Given the description of an element on the screen output the (x, y) to click on. 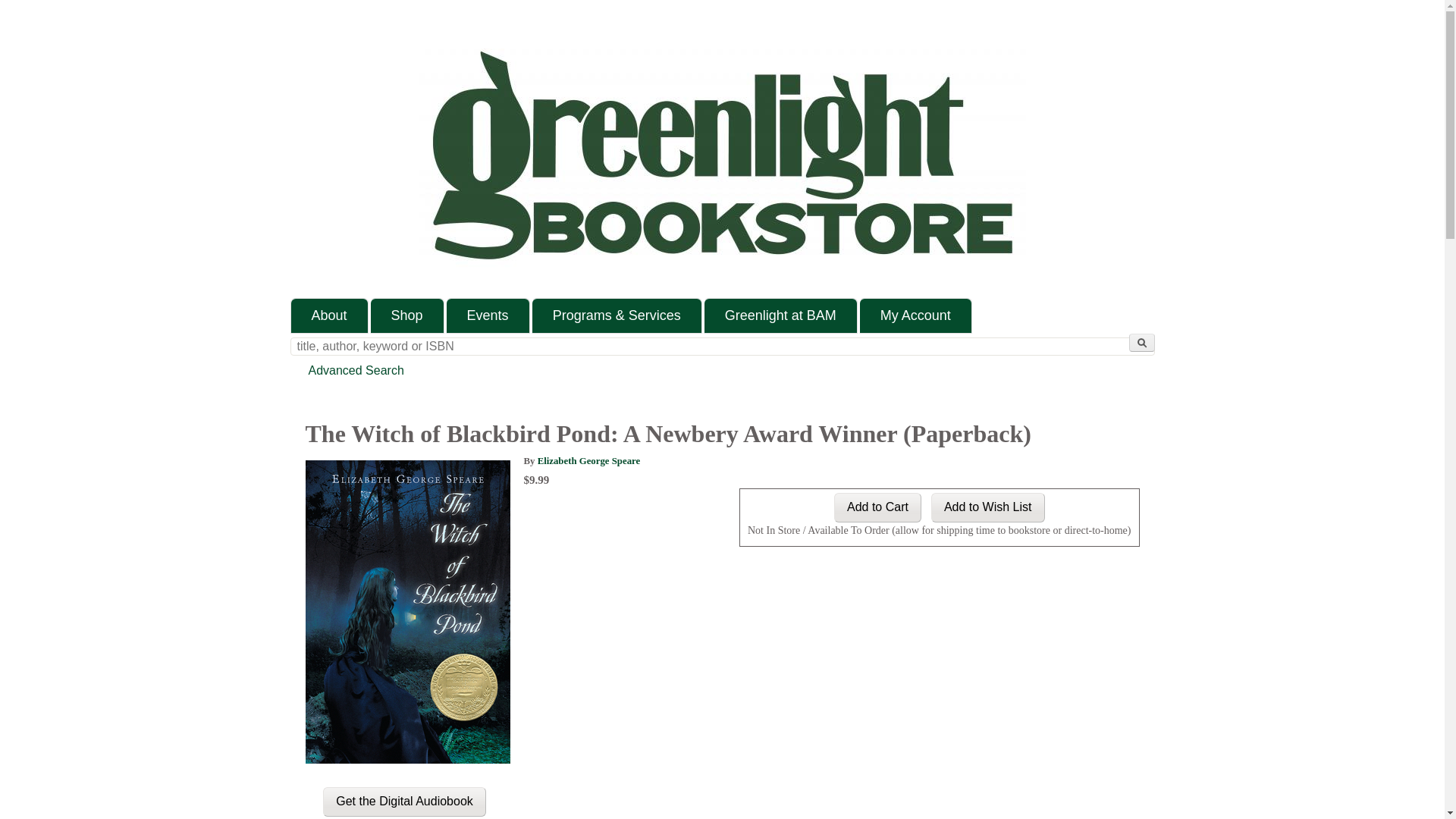
About (329, 315)
Add to Cart (877, 507)
Get the Digital Audiobook (404, 801)
Search (1141, 342)
Shop (407, 315)
